Given the description of an element on the screen output the (x, y) to click on. 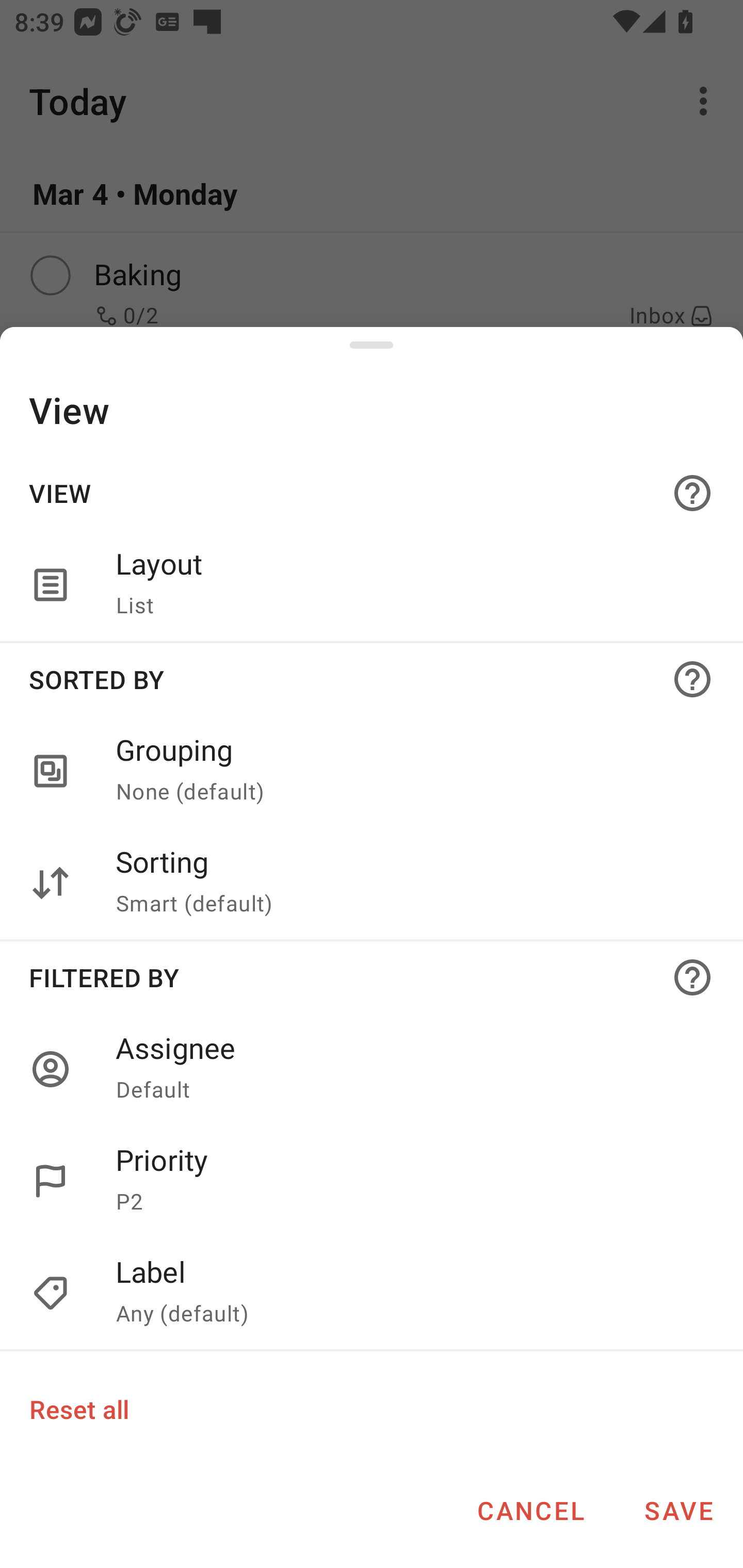
Layout List (371, 585)
Layout List (407, 585)
SORTED BY (371, 678)
Grouping None (default) (371, 771)
Grouping None (default) (407, 771)
Sorting Smart (default) (371, 883)
Sorting Smart (default) (407, 883)
FILTERED BY (371, 976)
Assignee Default (371, 1068)
Assignee Default (407, 1068)
Priority P2 (371, 1181)
Priority P2 (407, 1181)
Label Any (default) (371, 1293)
Label Any (default) (407, 1293)
Reset all (78, 1408)
CANCEL (530, 1510)
SAVE (678, 1510)
